Given the description of an element on the screen output the (x, y) to click on. 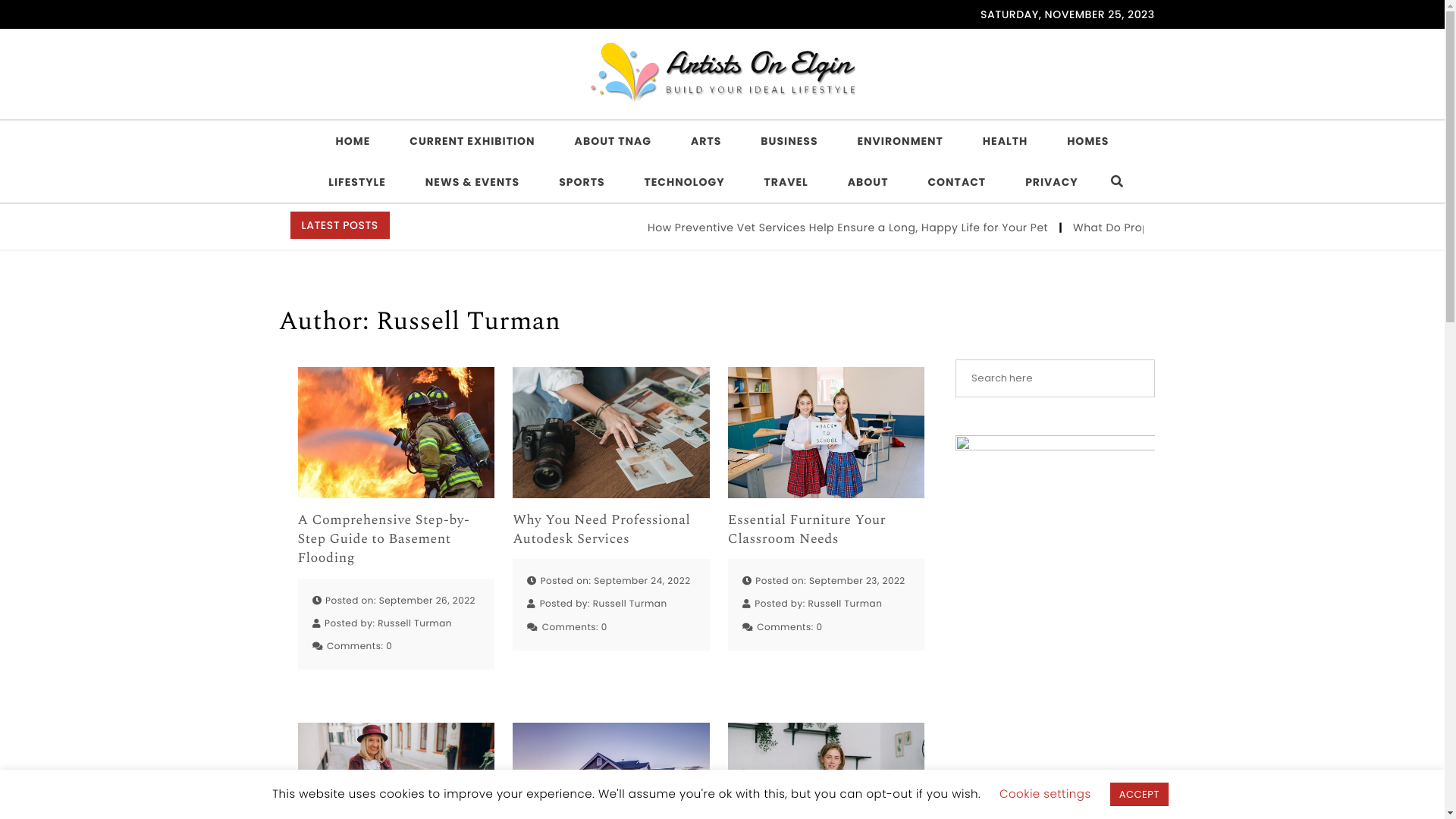
TECHNOLOGY Element type: text (684, 181)
Artists On Elgin Element type: text (328, 114)
ACCEPT Element type: text (1139, 794)
Cookie settings Element type: text (1045, 794)
Russell Turman Element type: text (844, 604)
ARTS Element type: text (705, 140)
Essential Furniture Your Classroom Needs Element type: text (826, 530)
NEWS & EVENTS Element type: text (472, 181)
ABOUT TNAG Element type: text (612, 140)
LIFESTYLE Element type: text (357, 181)
CONTACT Element type: text (956, 181)
BUSINESS Element type: text (788, 140)
0 Element type: text (388, 646)
HOMES Element type: text (1087, 140)
ENVIRONMENT Element type: text (900, 140)
0 Element type: text (604, 627)
Russell Turman Element type: text (630, 604)
0 Element type: text (818, 627)
A Comprehensive Step-by-Step Guide to Basement Flooding Element type: text (395, 539)
Russell Turman Element type: text (414, 623)
TRAVEL Element type: text (786, 181)
ABOUT Element type: text (867, 181)
PRIVACY Element type: text (1051, 181)
CURRENT EXHIBITION Element type: text (471, 140)
Search Element type: text (47, 20)
SPORTS Element type: text (581, 181)
HEALTH Element type: text (1004, 140)
Why You Need Professional Autodesk Services Element type: text (610, 530)
HOME Element type: text (353, 140)
